Given the description of an element on the screen output the (x, y) to click on. 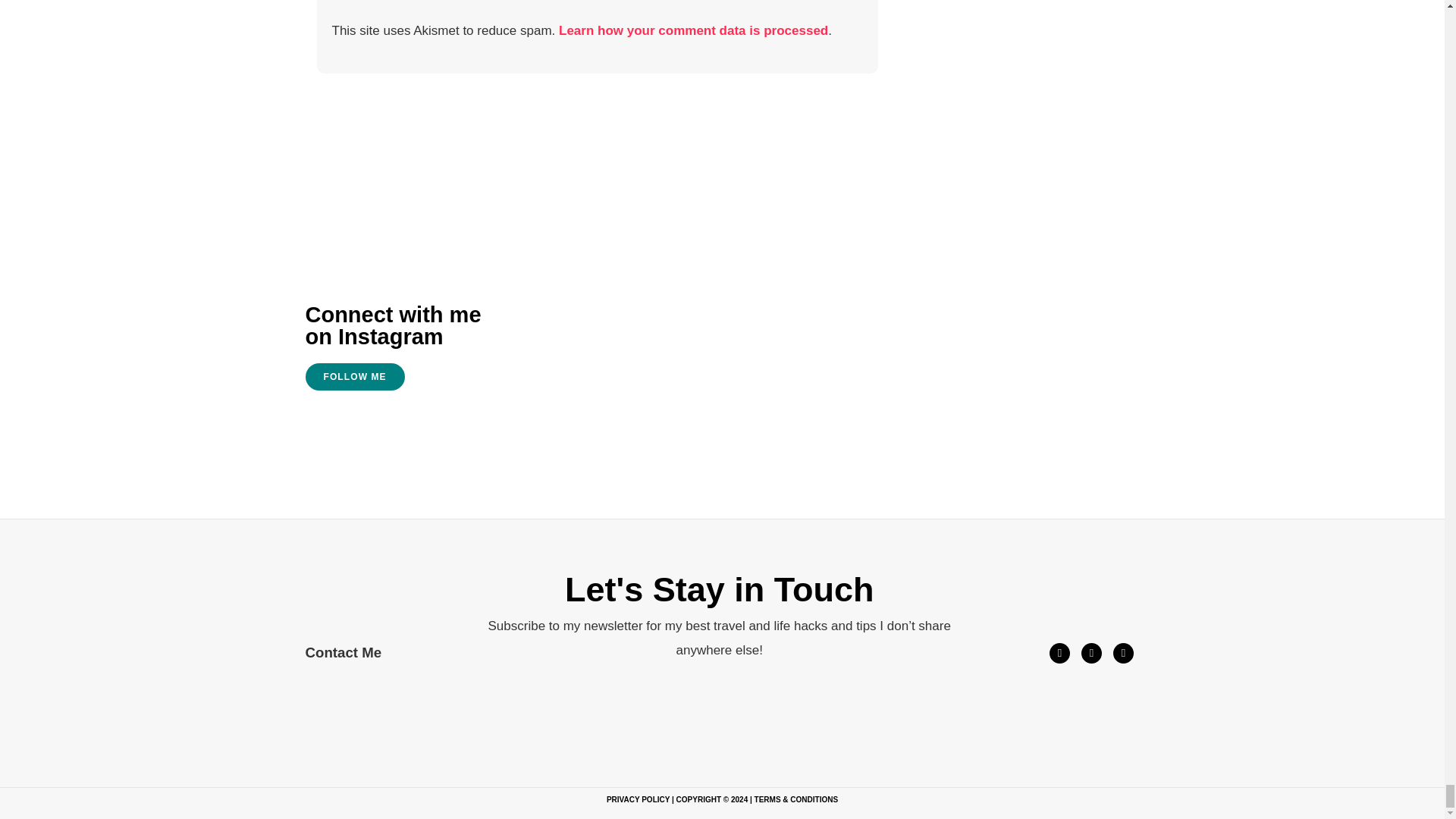
laguna-kaan-luum-heart (1046, 283)
bluebonnet-sunrise-texas (592, 340)
couple-at-trocadero-eiffel-tower-photo-spot (808, 359)
